Given the description of an element on the screen output the (x, y) to click on. 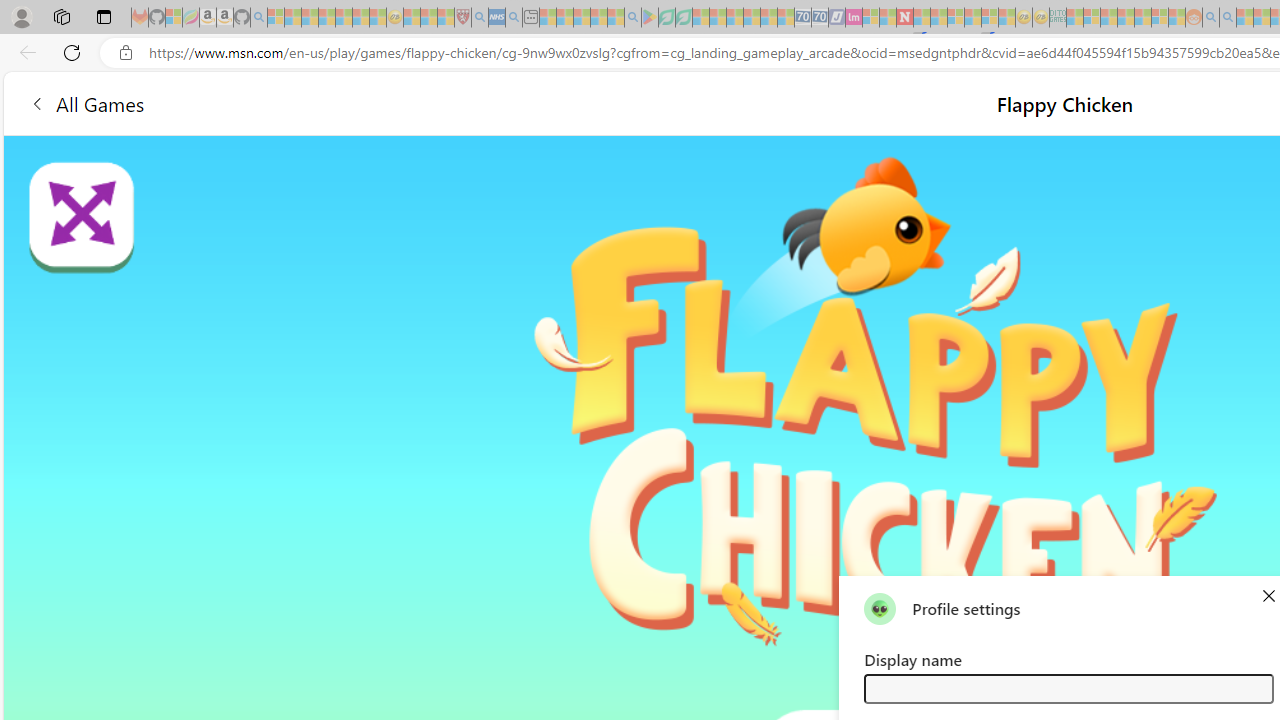
All Games (86, 102)
Pets - MSN - Sleeping (598, 17)
Jobs - lastminute.com Investor Portal - Sleeping (853, 17)
